Given the description of an element on the screen output the (x, y) to click on. 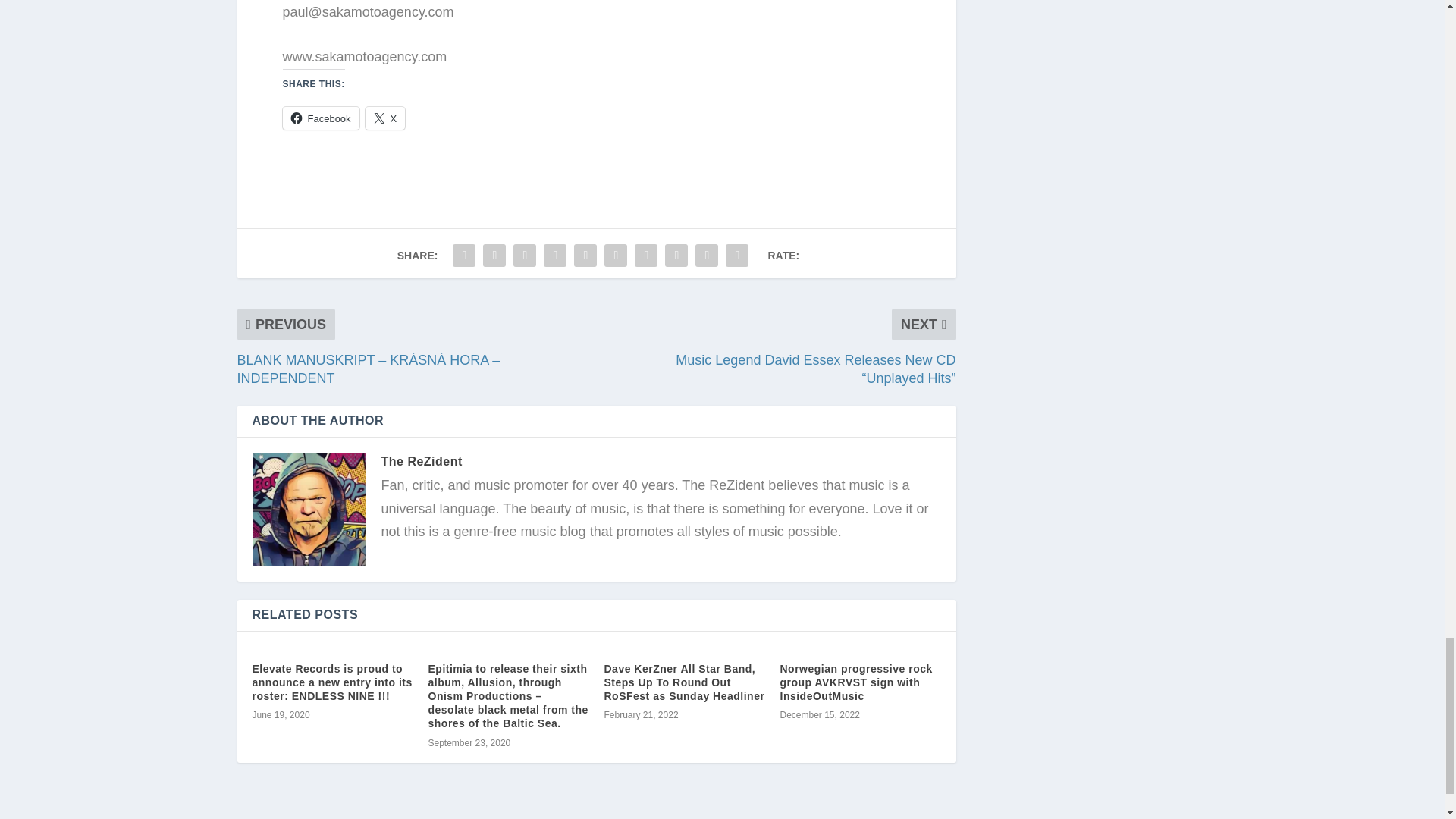
Facebook (320, 118)
Click to share on X (385, 118)
X (385, 118)
Click to share on Facebook (320, 118)
